Given the description of an element on the screen output the (x, y) to click on. 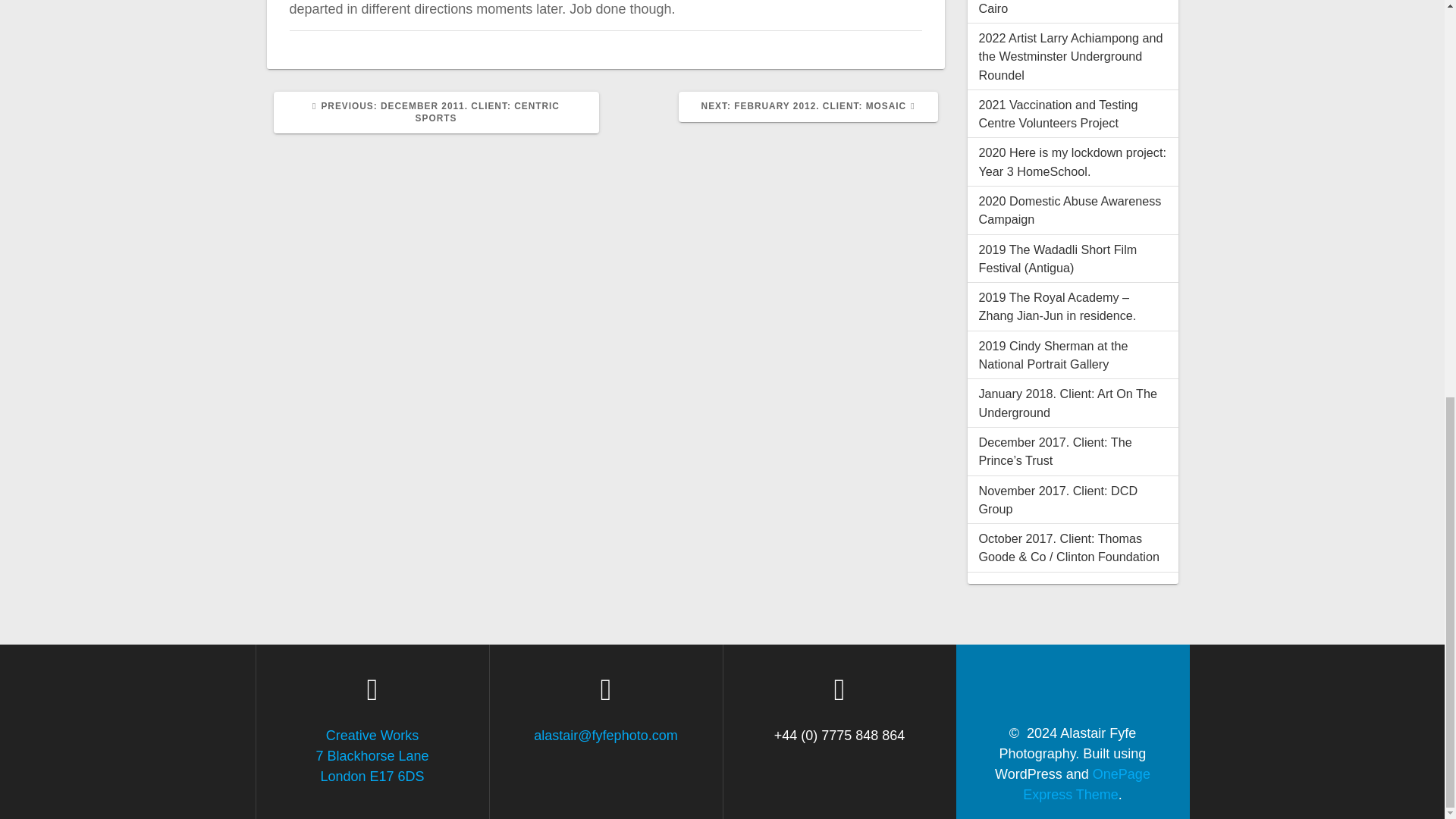
2020 Domestic Abuse Awareness Campaign (371, 755)
2021 Vaccination and Testing Centre Volunteers Project (1069, 210)
January 2018. Client: Art On The Underground (1057, 113)
2019 Cindy Sherman at the National Portrait Gallery (1067, 402)
2022 A walk though old town Cairo (1052, 355)
November 2017. Client: DCD Group (1056, 7)
2020 Here is my lockdown project: Year 3 HomeSchool. (1057, 499)
OnePage Express Theme (807, 106)
